Given the description of an element on the screen output the (x, y) to click on. 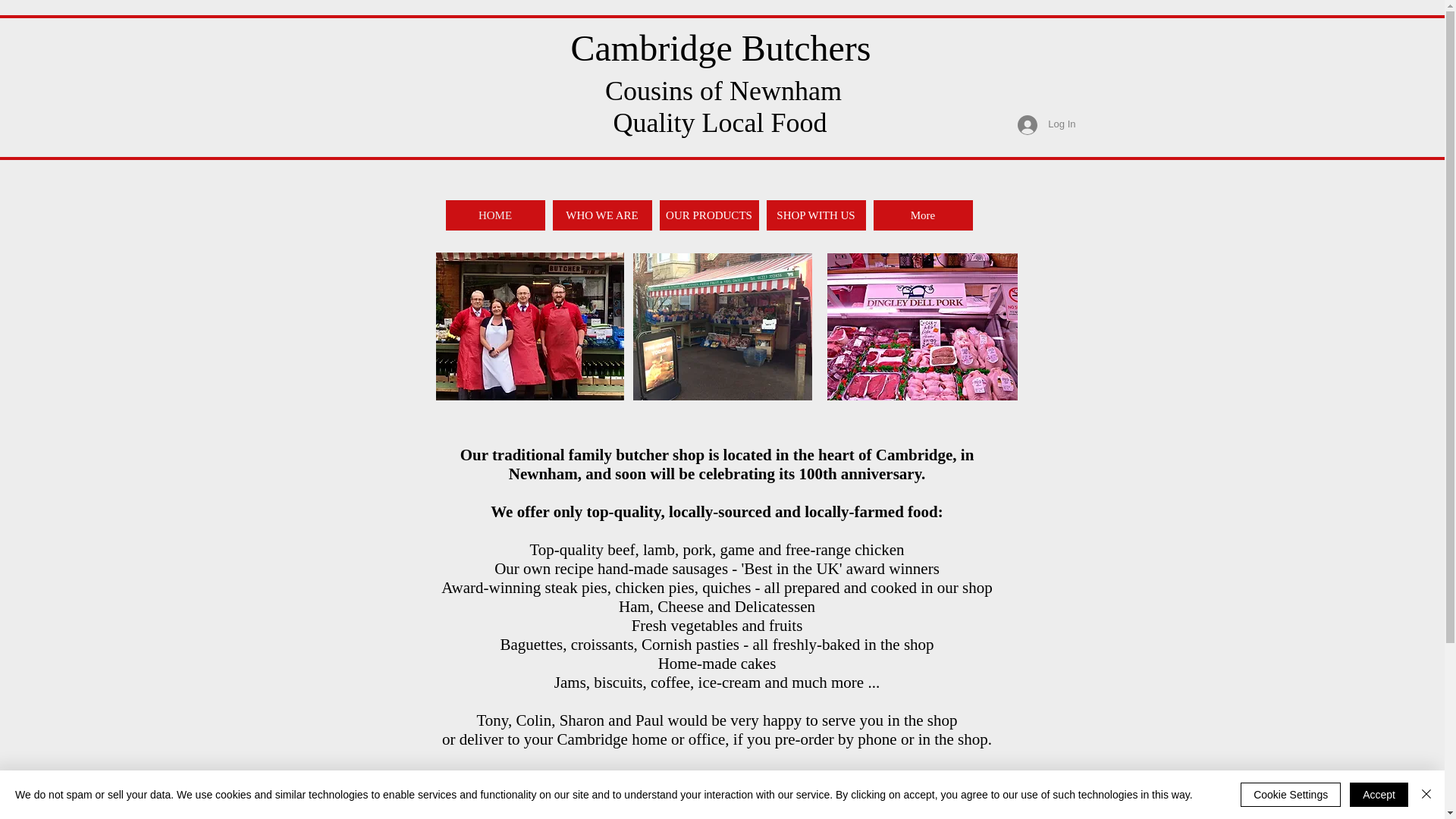
Cookie Settings (1290, 794)
WHO WE ARE (600, 214)
Cambridge Butchers local shop in Cambridge (720, 326)
Traditional butcher shop in Newnham (529, 326)
HOME (494, 214)
SHOP WITH US (814, 214)
Cambridge News (936, 777)
Log In (1046, 124)
Accept (1378, 794)
OUR PRODUCTS (708, 214)
